Given the description of an element on the screen output the (x, y) to click on. 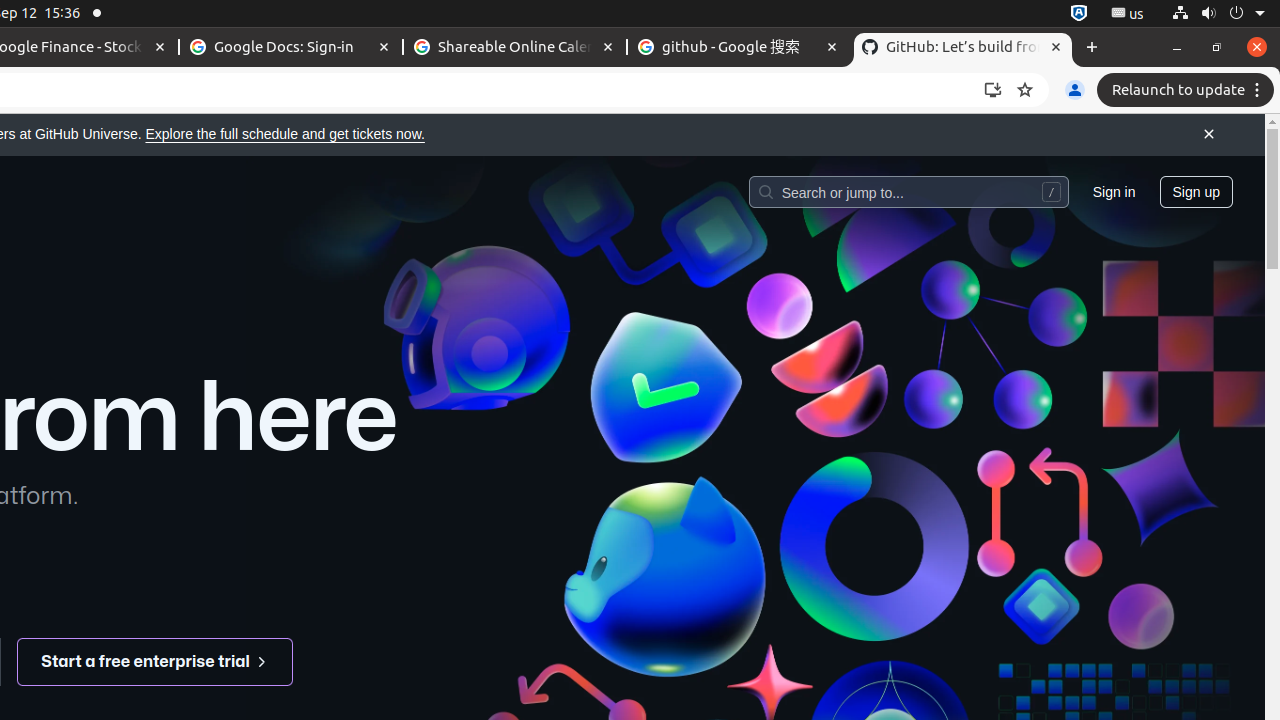
Sign up Element type: link (1196, 191)
Shareable Online Calendar and Scheduling - Google Calendar - Memory usage - 88.4 MB Element type: page-tab (515, 47)
Explore the full schedule and get tickets now. Element type: link (285, 133)
You Element type: push-button (1075, 90)
Start a free enterprise trial  Element type: link (155, 661)
